Given the description of an element on the screen output the (x, y) to click on. 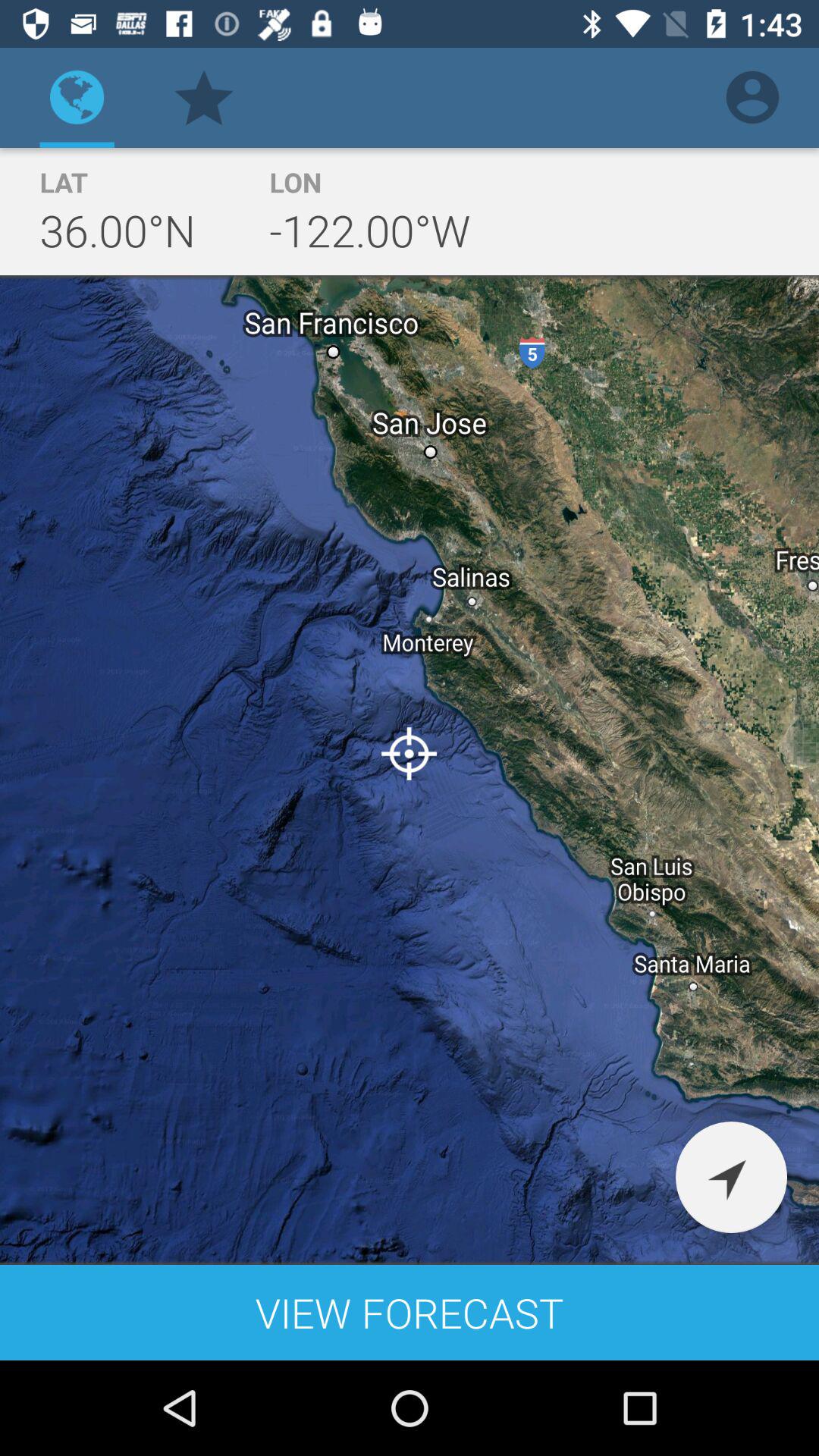
flip to view forecast item (409, 1312)
